Given the description of an element on the screen output the (x, y) to click on. 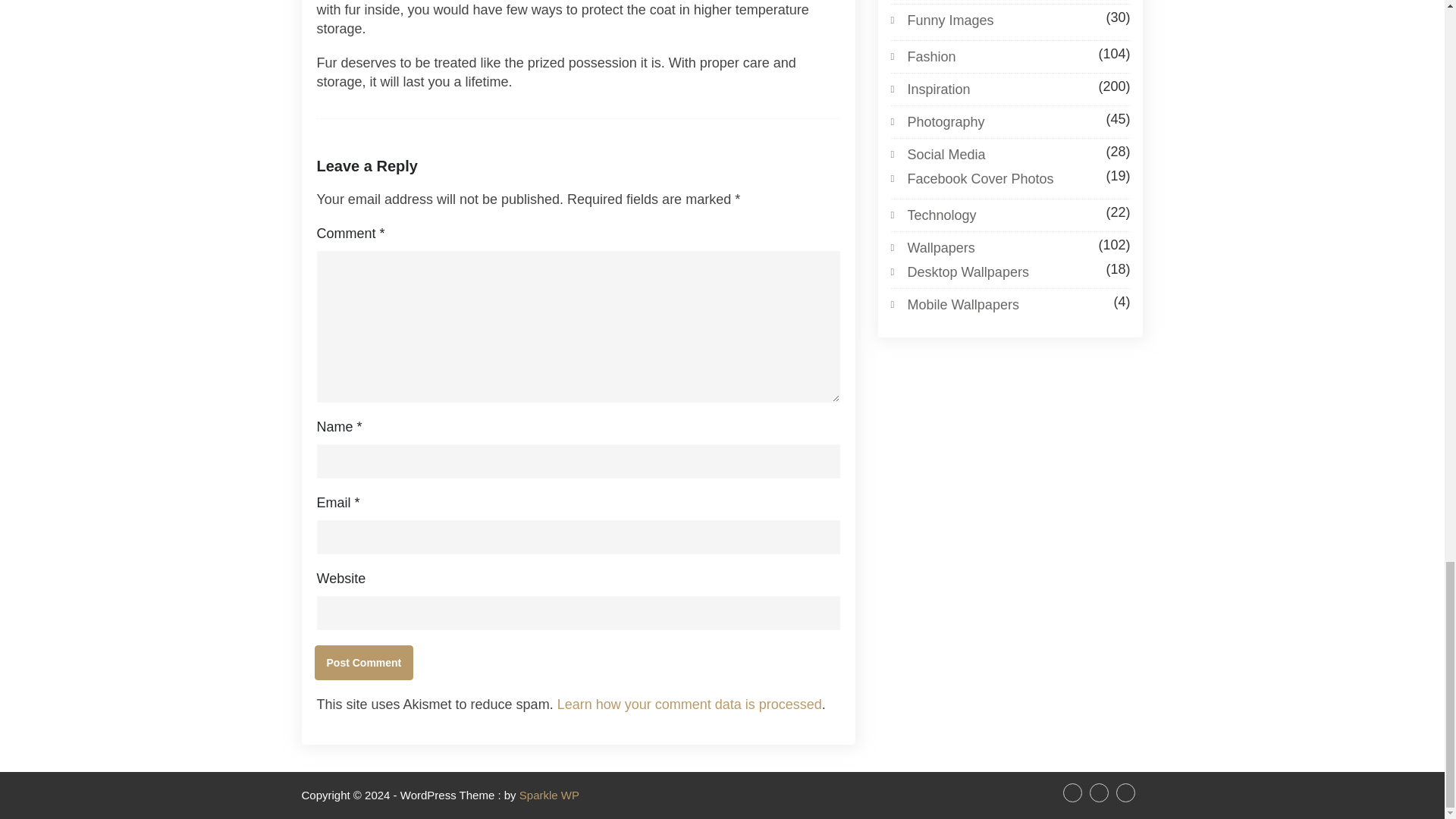
Post Comment (363, 662)
Post Comment (363, 662)
Learn how your comment data is processed (689, 703)
